Given the description of an element on the screen output the (x, y) to click on. 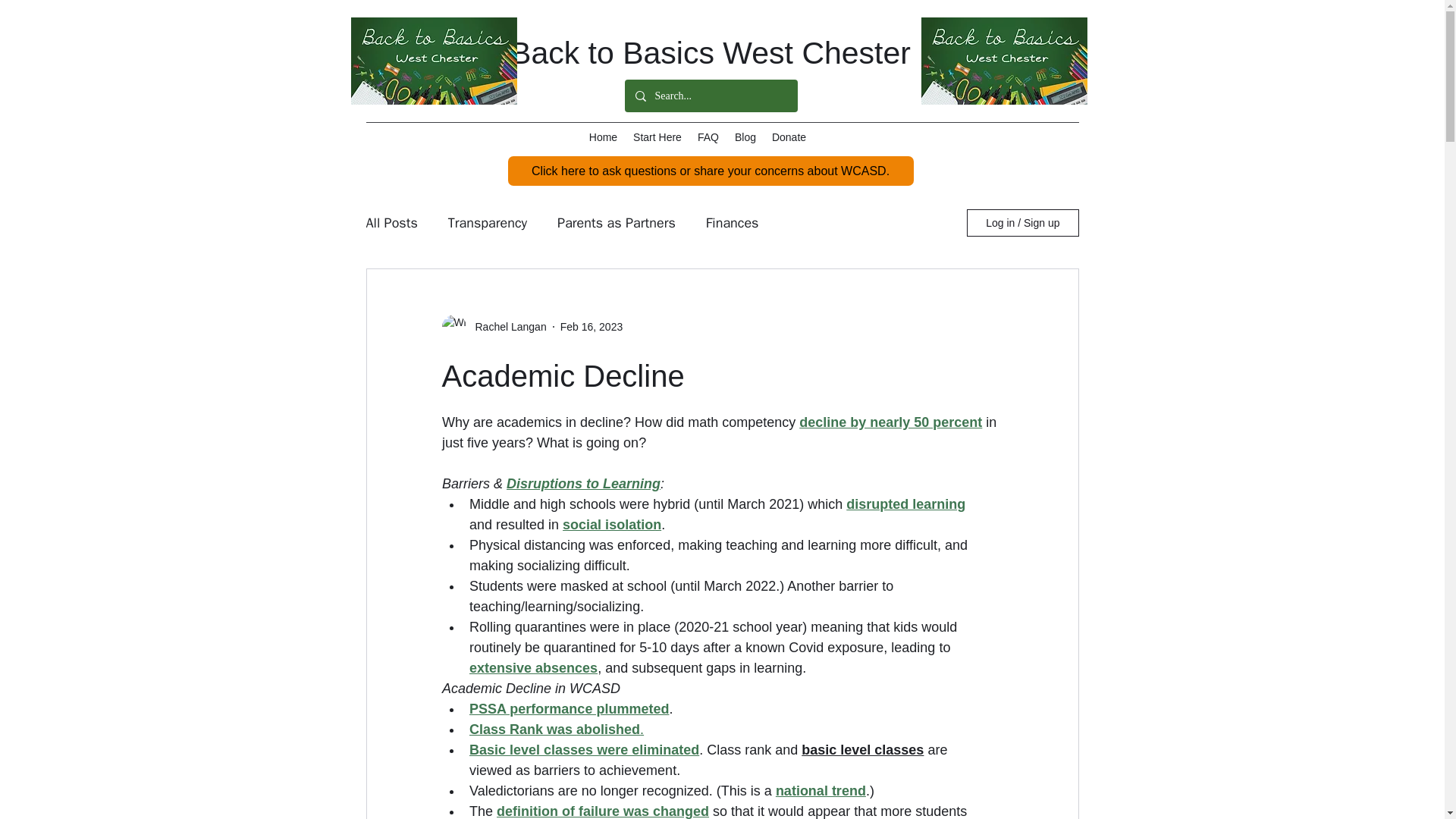
Basic level classes were eliminated (583, 749)
Home (602, 136)
Finances (732, 222)
Blog (744, 136)
Start Here (656, 136)
Feb 16, 2023 (591, 326)
decline by nearly 50 percent (890, 421)
disrupted learning (905, 503)
basic level classes (862, 749)
extensive absences (532, 667)
Disruptions to Learning (583, 483)
Transparency (487, 222)
national trend (819, 790)
All Posts (390, 222)
